Given the description of an element on the screen output the (x, y) to click on. 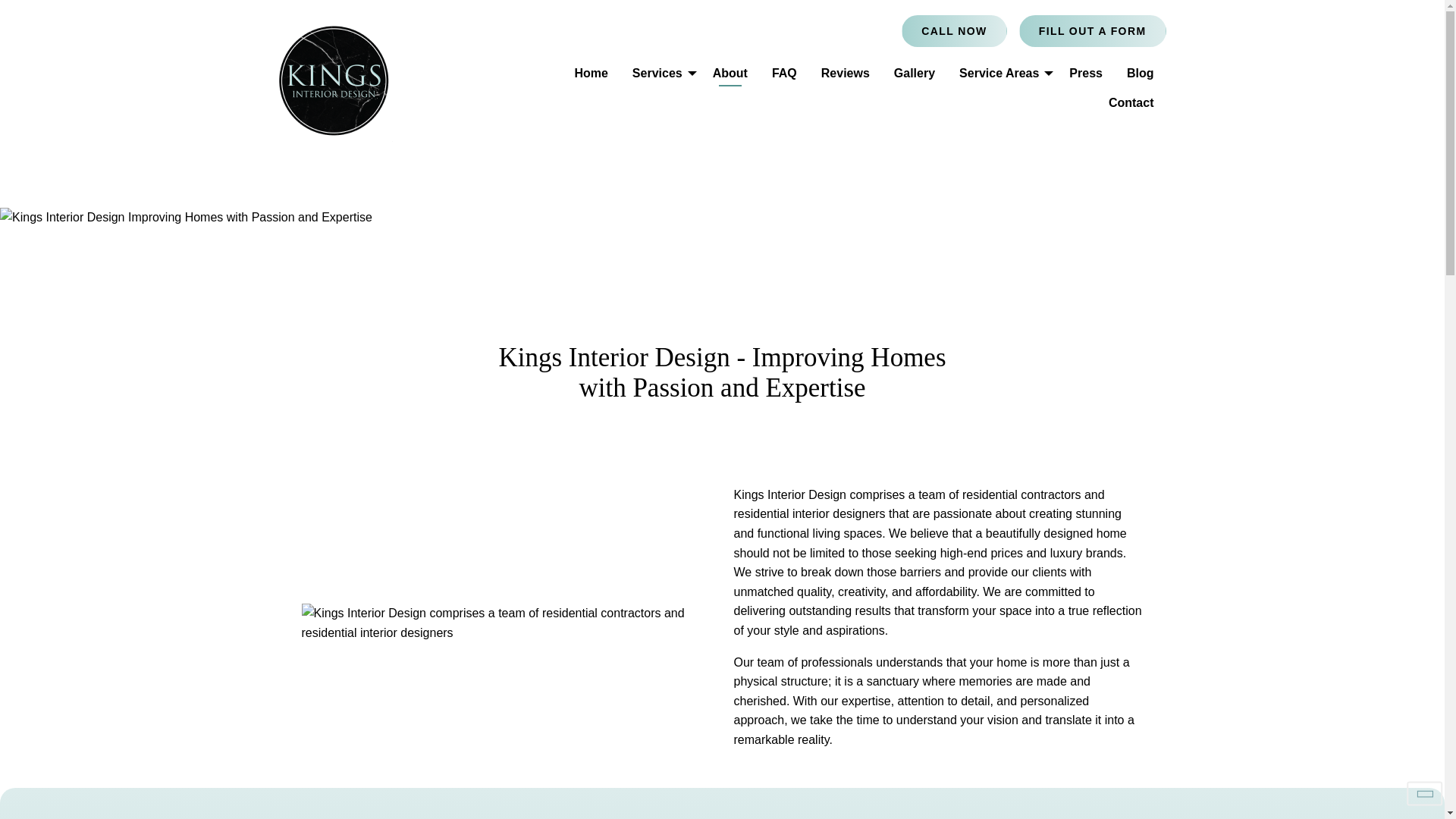
FAQ (784, 72)
Press (1086, 72)
FILL OUT A FORM (1092, 30)
Home (591, 72)
Reviews (845, 72)
Gallery (914, 72)
CALL NOW (953, 30)
Service Areas (1002, 72)
Services (660, 72)
Blog (1140, 72)
Contact (1131, 102)
About (730, 72)
